Given the description of an element on the screen output the (x, y) to click on. 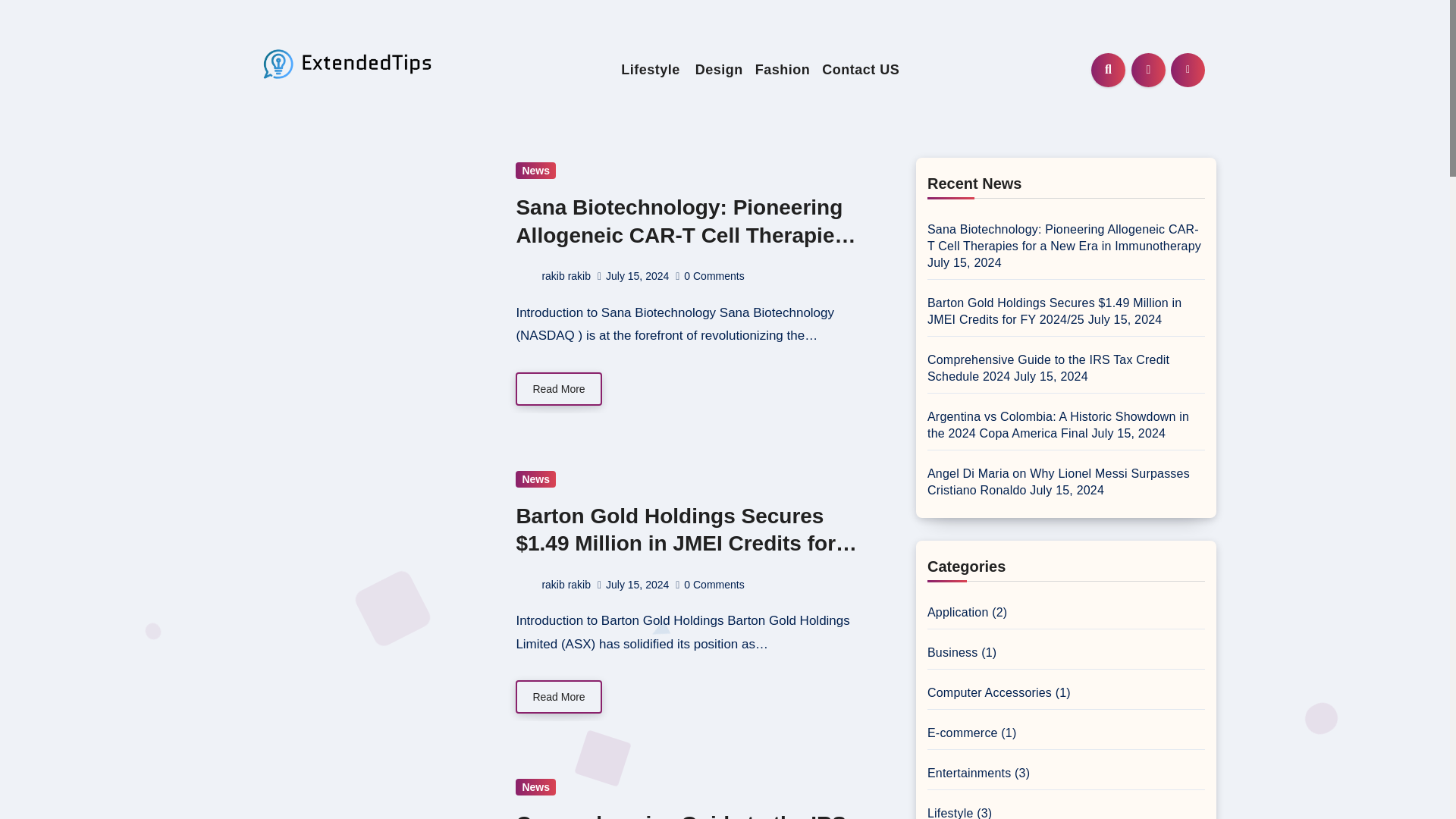
Fashion (782, 68)
0 Comments (714, 275)
News (535, 478)
rakib rakib (553, 275)
Design (718, 68)
Design (718, 68)
Fashion (782, 68)
Read More (558, 388)
Read More (558, 696)
News (535, 170)
Comprehensive Guide to the IRS Tax Credit Schedule 2024 (680, 815)
rakib rakib (553, 584)
Contact US (860, 68)
News (535, 786)
